Given the description of an element on the screen output the (x, y) to click on. 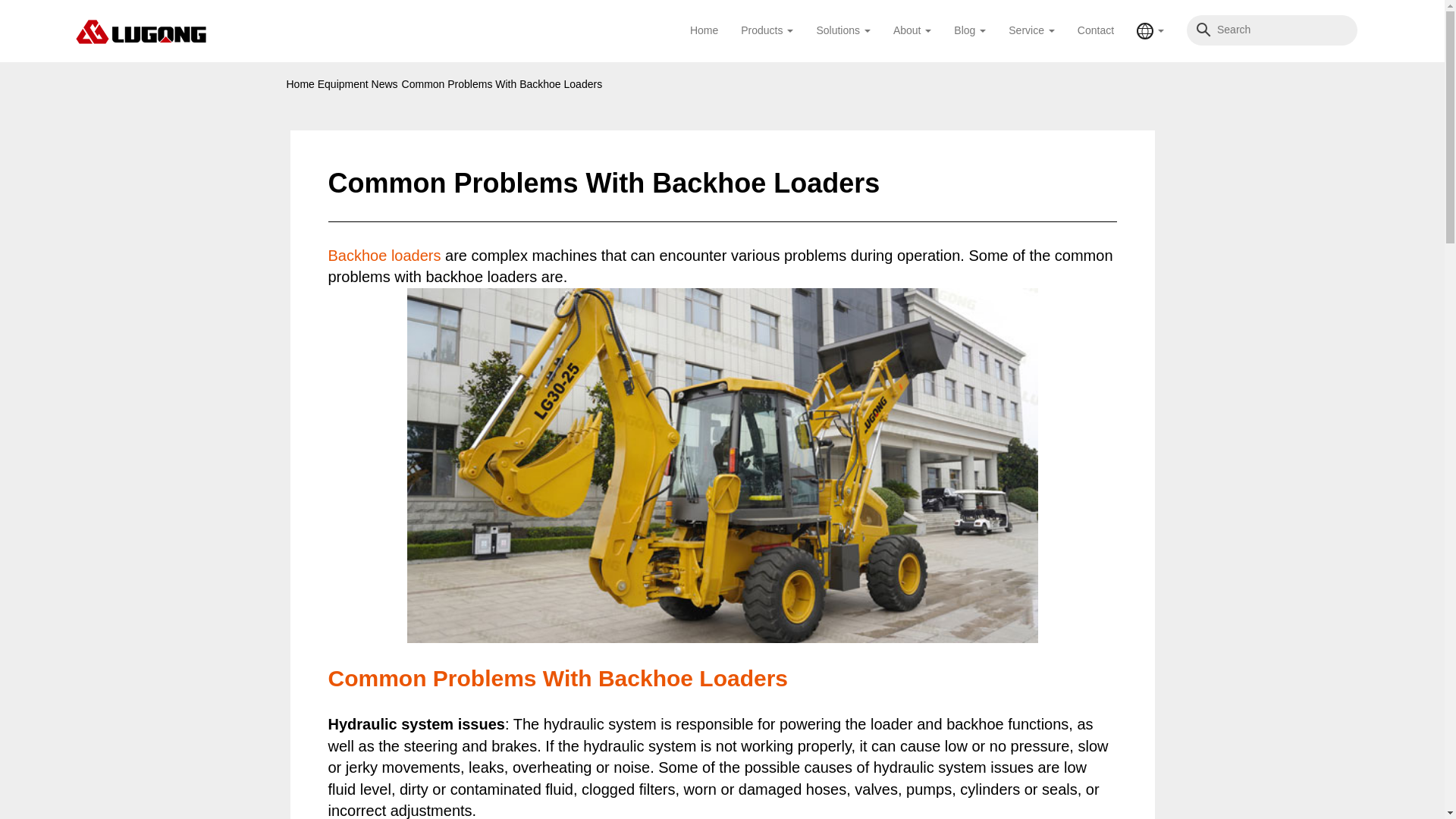
Products (767, 30)
Equipment News (357, 83)
Backhoe loaders (384, 255)
Blog (969, 30)
Solutions (842, 30)
Service (1031, 30)
Contact (1095, 30)
Home (703, 30)
Home (300, 83)
About (912, 30)
